Given the description of an element on the screen output the (x, y) to click on. 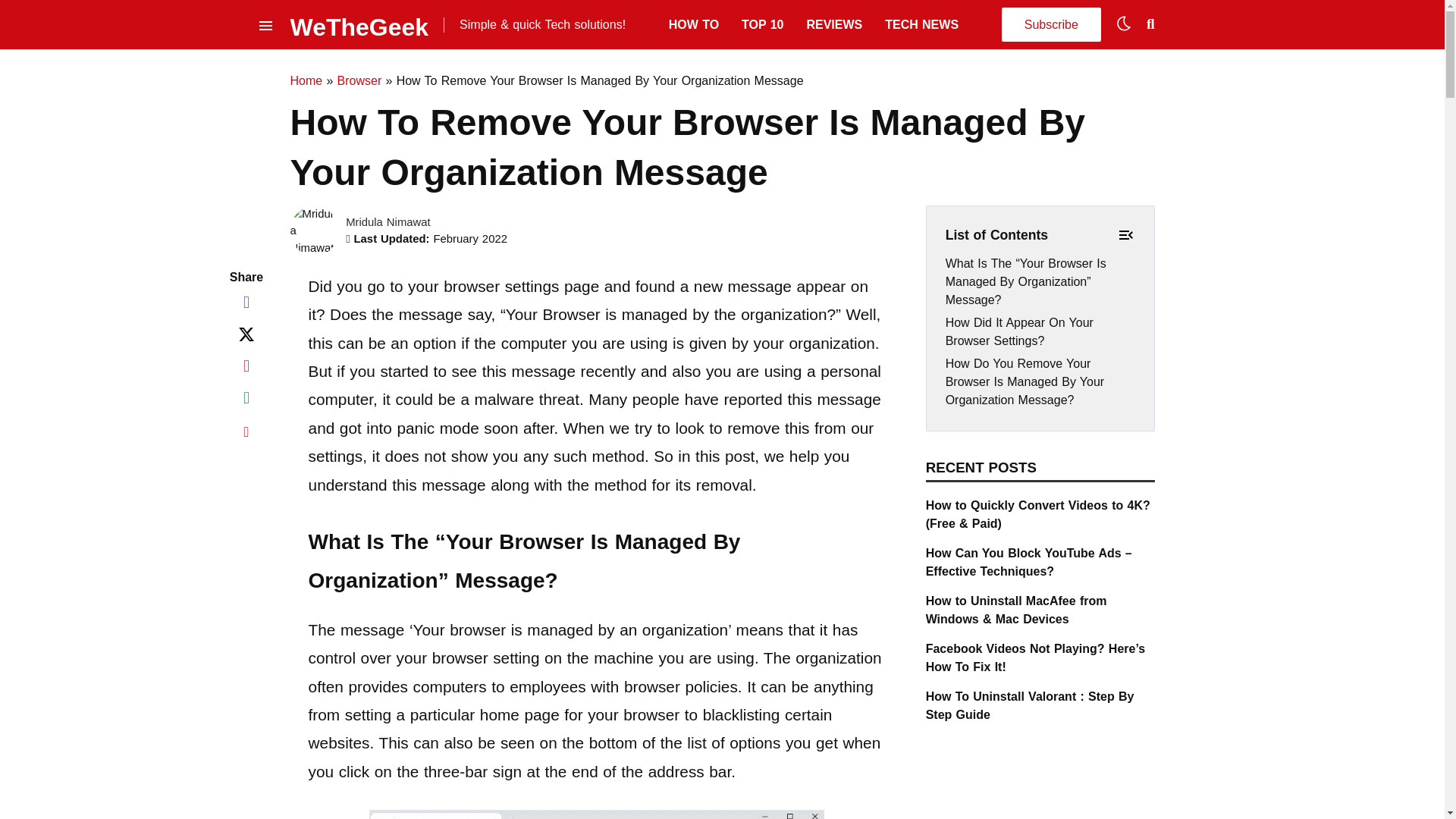
TOP 10 (762, 24)
Browser (359, 80)
HOW TO (693, 24)
REVIEWS (833, 24)
Home (305, 80)
WeTheGeek (358, 24)
Mridula Nimawat (388, 222)
TECH NEWS (921, 24)
